Given the description of an element on the screen output the (x, y) to click on. 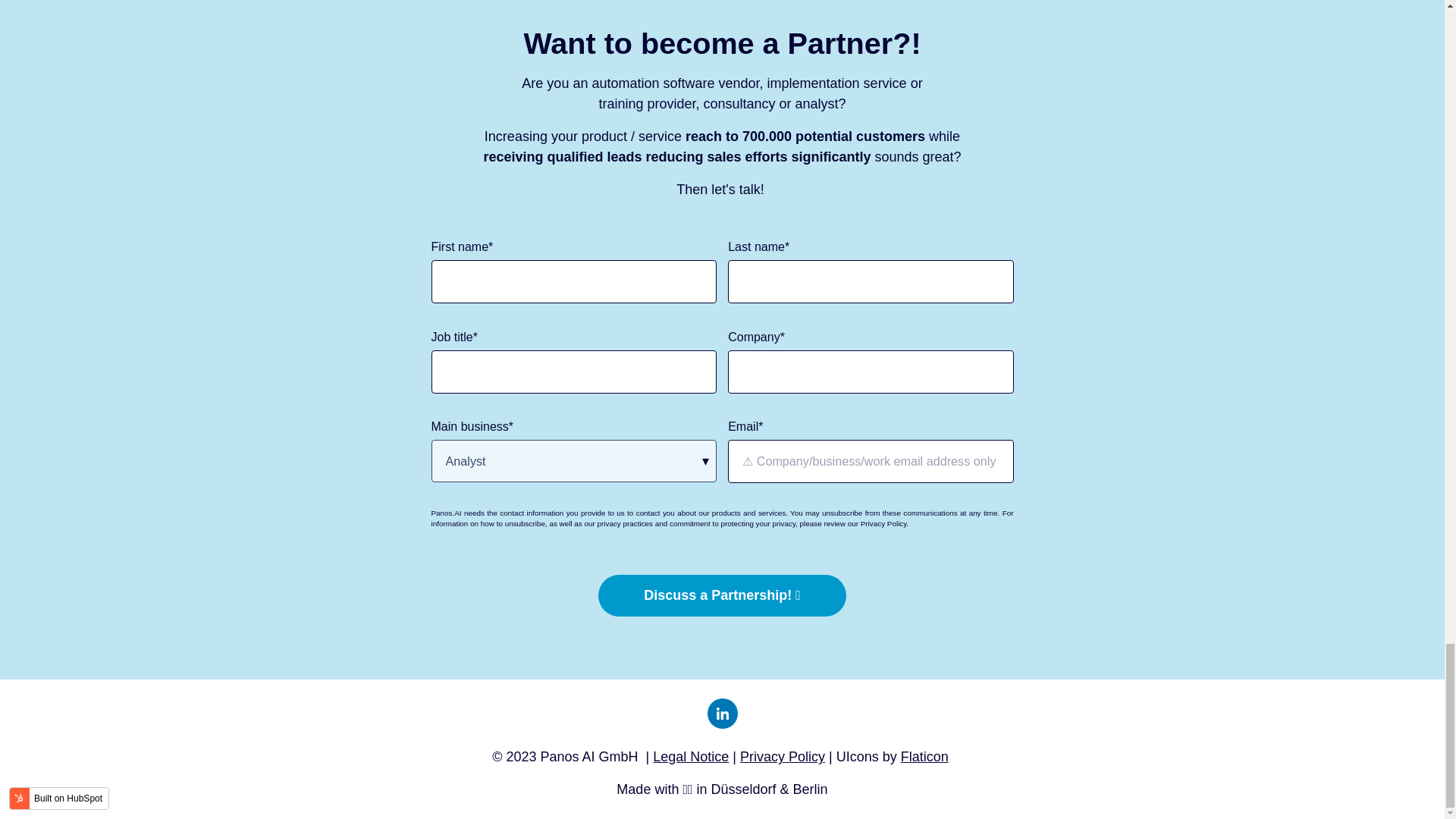
Legal Notice (690, 756)
Privacy Policy (782, 756)
Flaticon (925, 756)
